Given the description of an element on the screen output the (x, y) to click on. 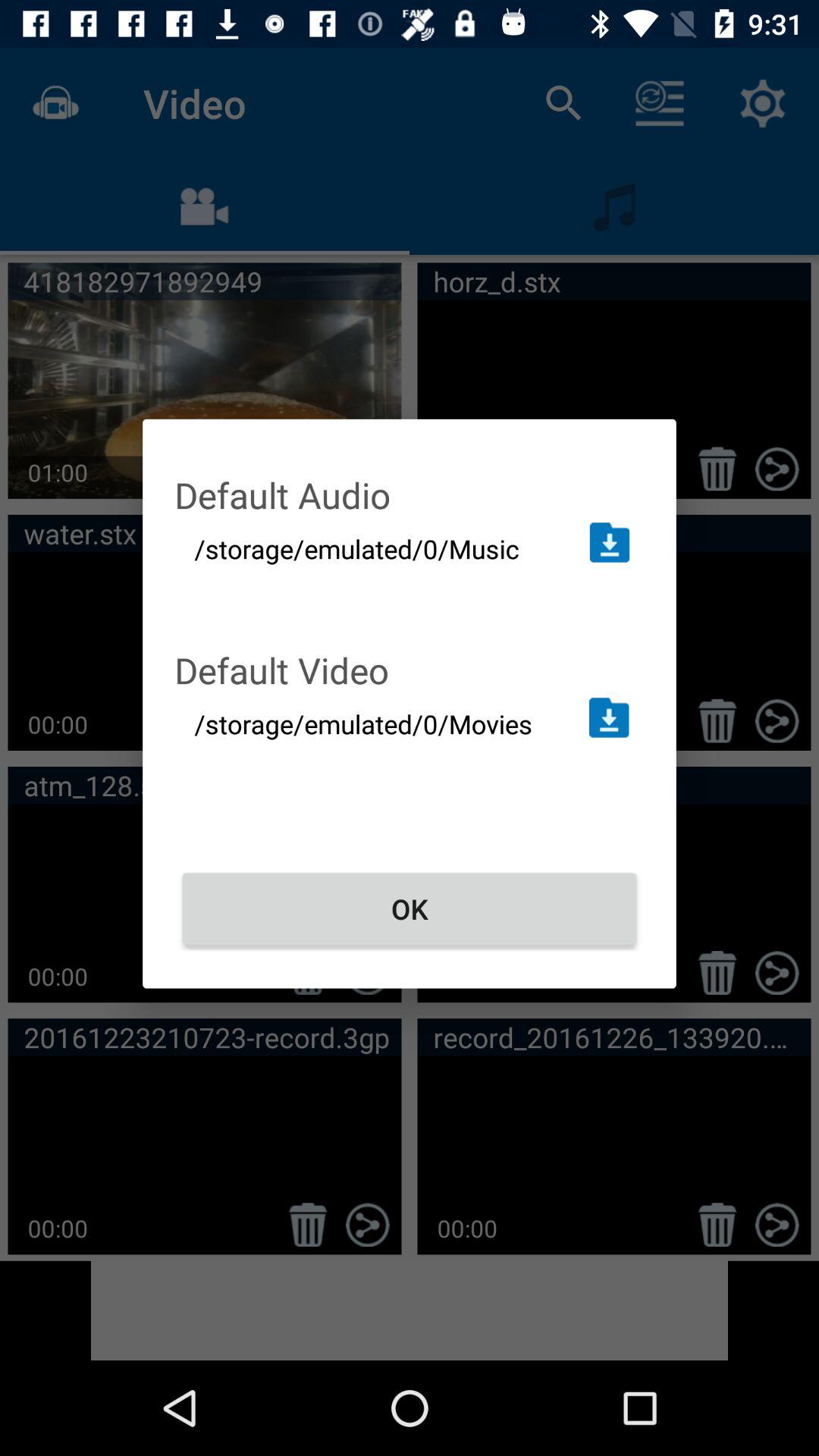
download file (608, 717)
